Given the description of an element on the screen output the (x, y) to click on. 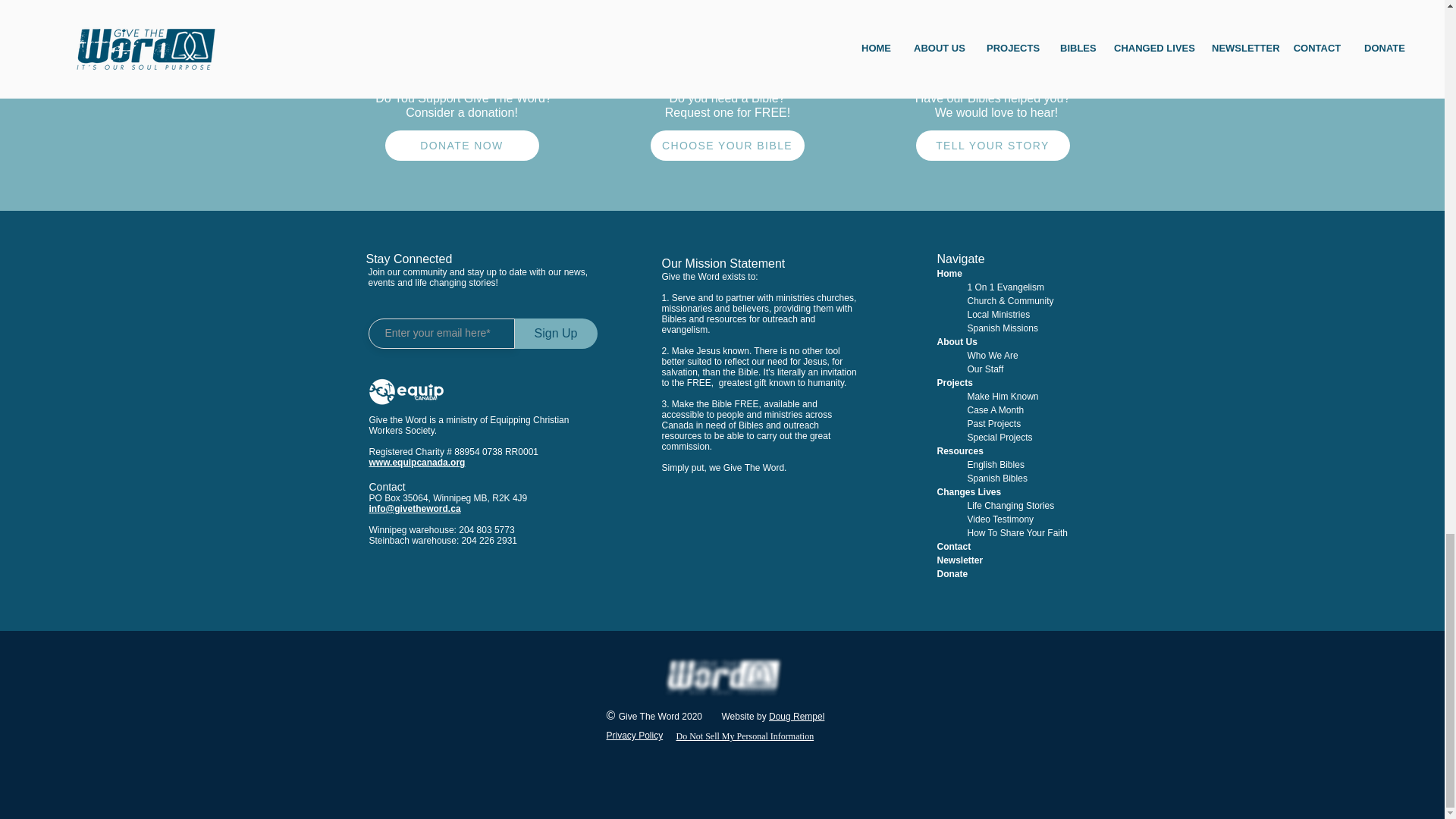
DONATE NOW (461, 145)
Past Projects (995, 423)
1 On 1 Evangelism (1005, 286)
Sign Up (554, 333)
Who We Are (992, 355)
Our Staff (986, 368)
Case A Month (996, 409)
About Us (956, 341)
Projects (954, 382)
Home (949, 273)
